Given the description of an element on the screen output the (x, y) to click on. 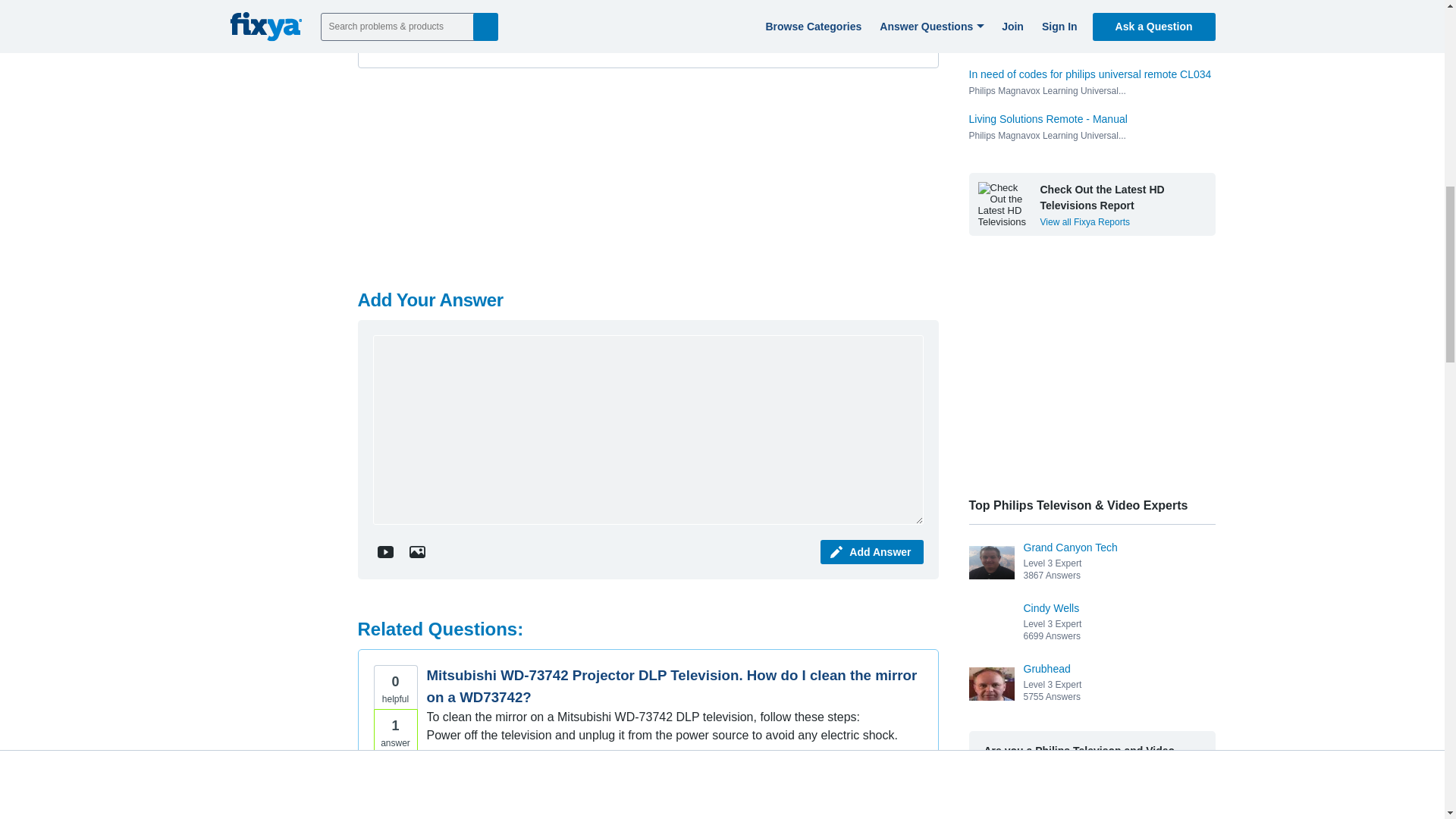
Add Answer (872, 551)
